Given the description of an element on the screen output the (x, y) to click on. 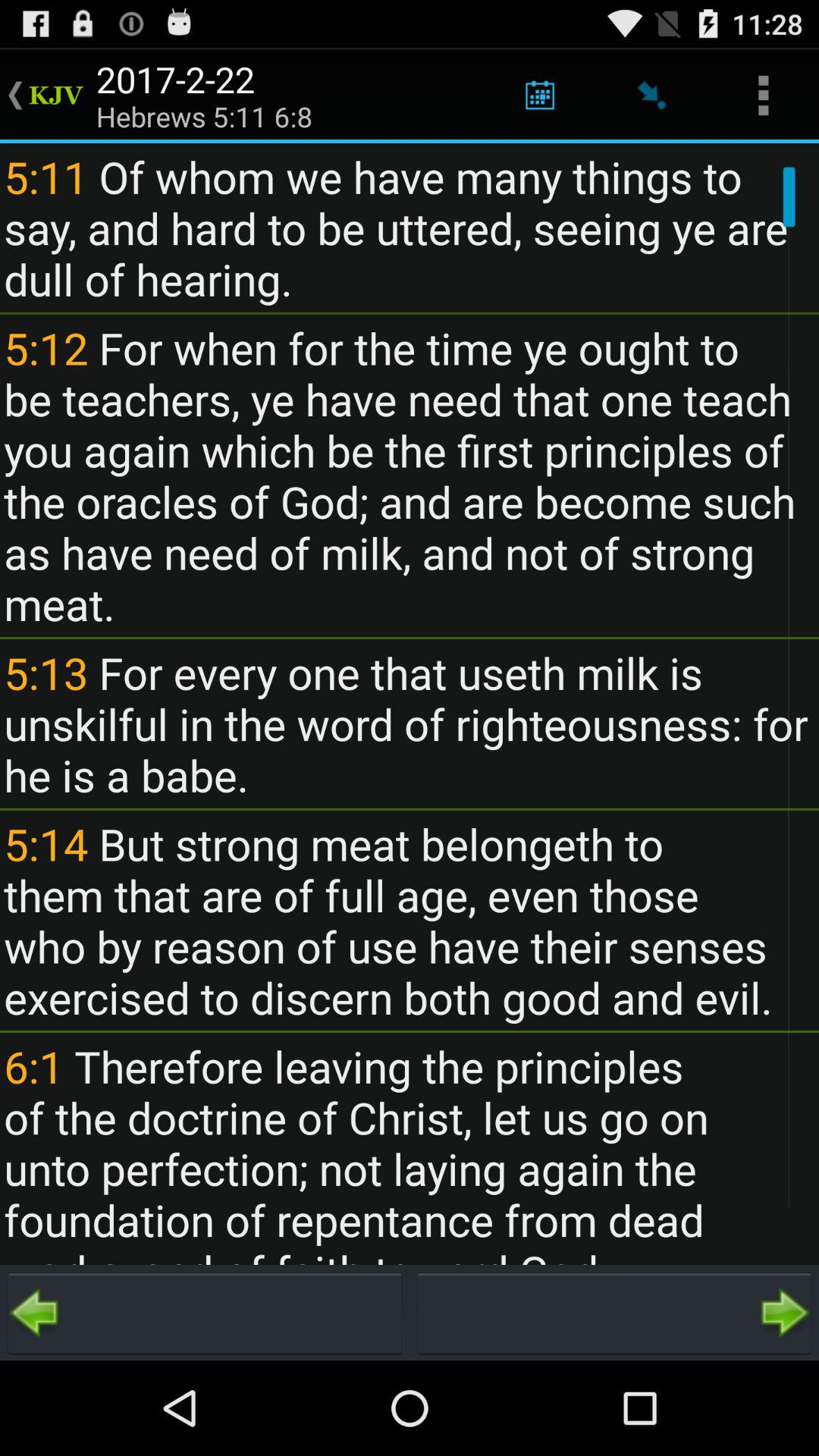
choose icon next to hebrews 5 11 app (540, 95)
